Given the description of an element on the screen output the (x, y) to click on. 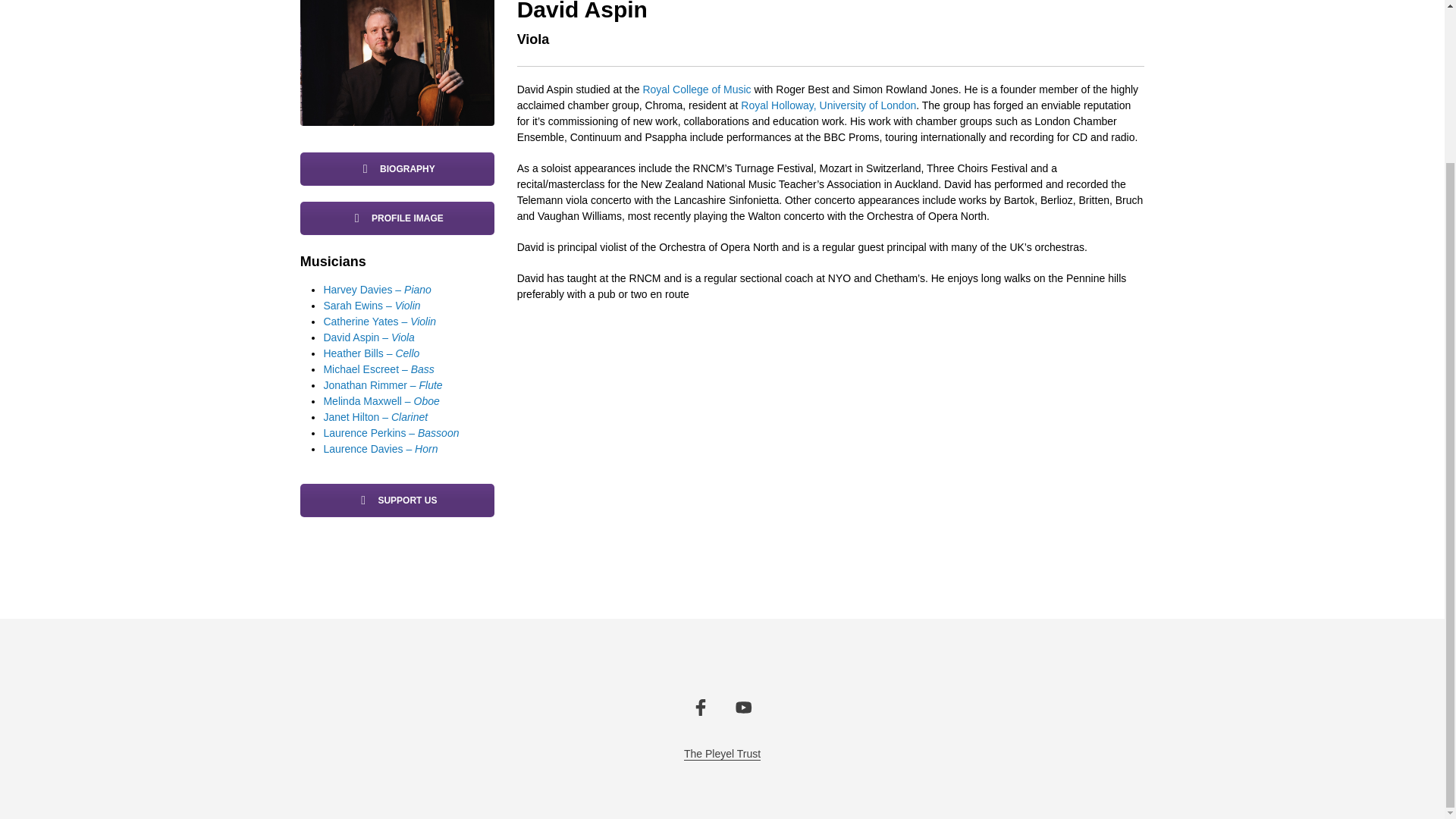
The Pleyel Trust (397, 500)
